Given the description of an element on the screen output the (x, y) to click on. 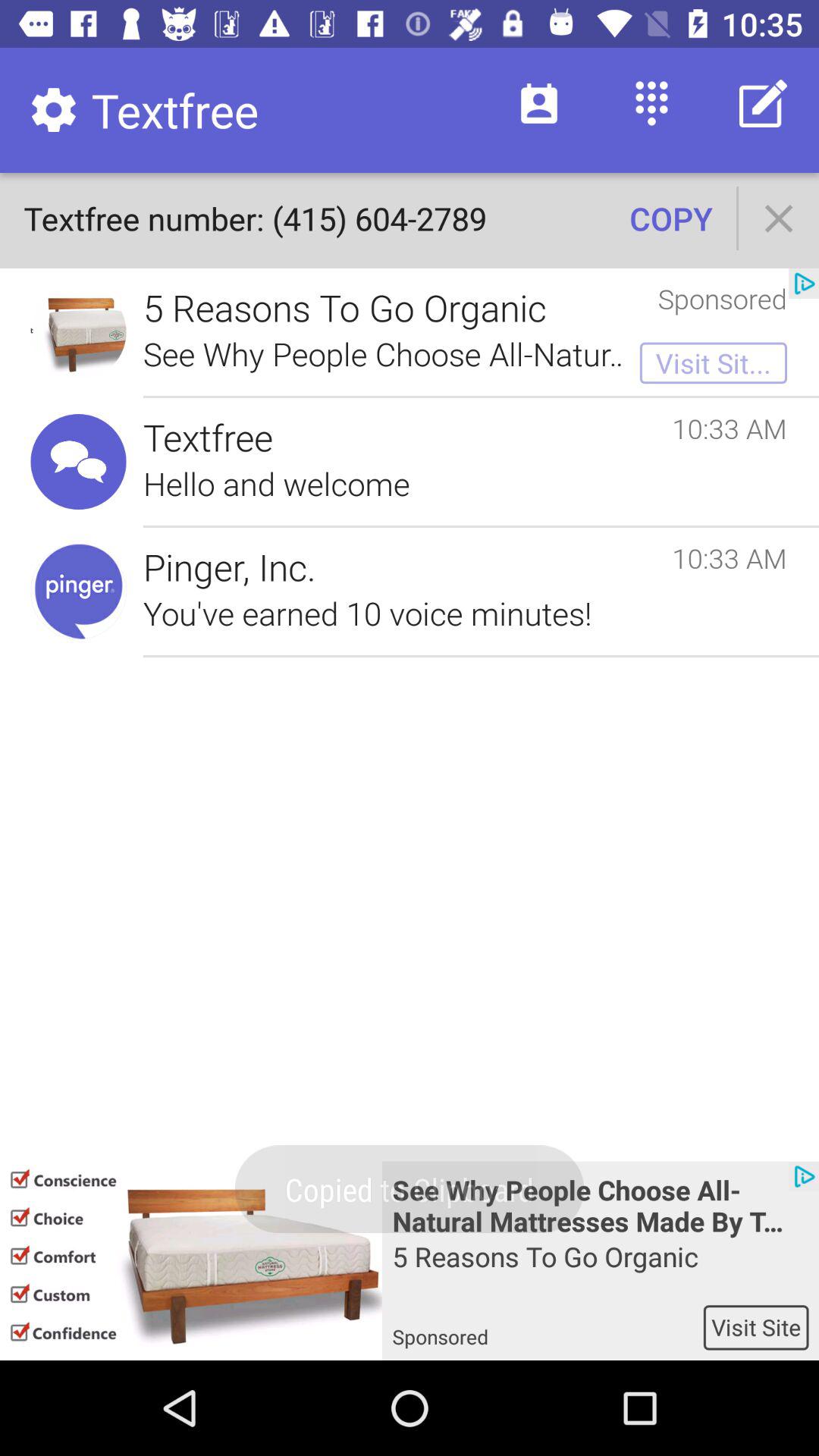
select the first image on the web page (78, 331)
click on icon next to sponsored (803, 282)
select the text above 5 reasons to go organic at bottom of the page (601, 1205)
select the text on the advertisement above the text sponsored on the web page (601, 1271)
click on icon next to sponsored at top right corner of the page (803, 282)
visit sit   (713, 363)
click the copy button (670, 218)
select the pinger label (78, 591)
